Given the description of an element on the screen output the (x, y) to click on. 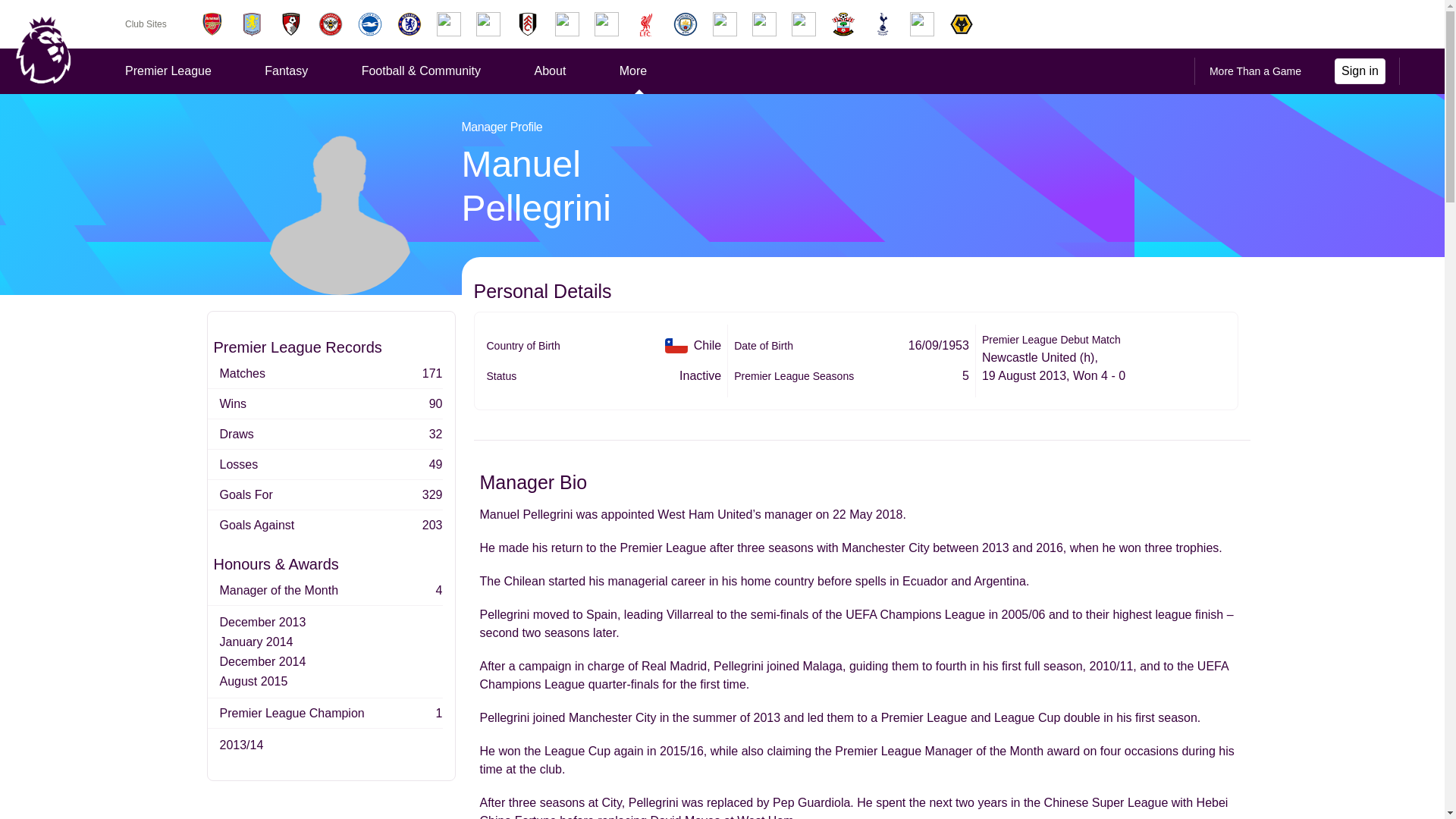
Newcastle United (763, 24)
West Ham United (922, 24)
Arsenal (211, 24)
Everton (488, 24)
Nottingham Forest (803, 24)
Crystal Palace (448, 24)
Wolverhampton Wanderers (961, 24)
Manchester City (684, 24)
Leicester (606, 24)
Aston Villa (250, 24)
Ipswich Town (566, 24)
Tottenham Hotspur (882, 24)
Liverpool (645, 24)
Southampton (843, 24)
Chelsea (409, 24)
